Given the description of an element on the screen output the (x, y) to click on. 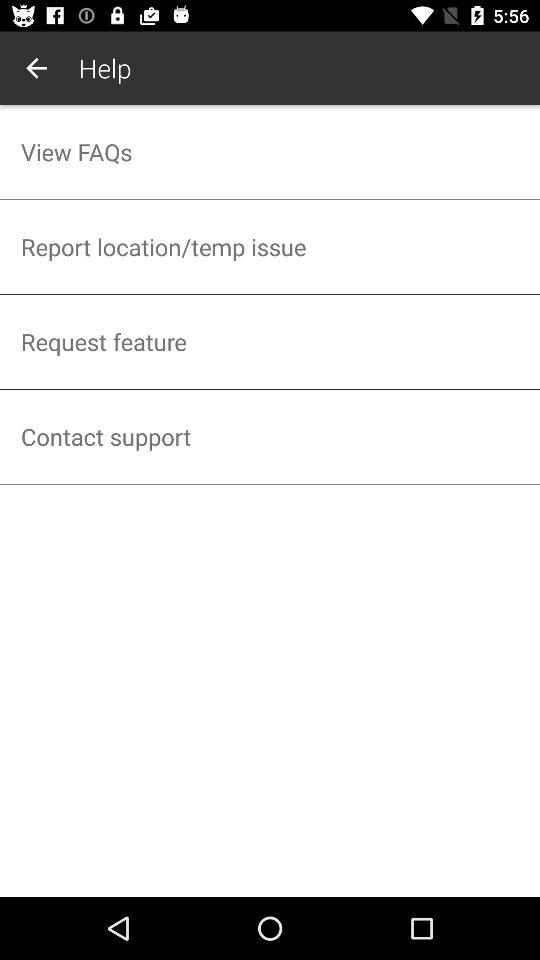
turn on the item next to help (36, 68)
